Given the description of an element on the screen output the (x, y) to click on. 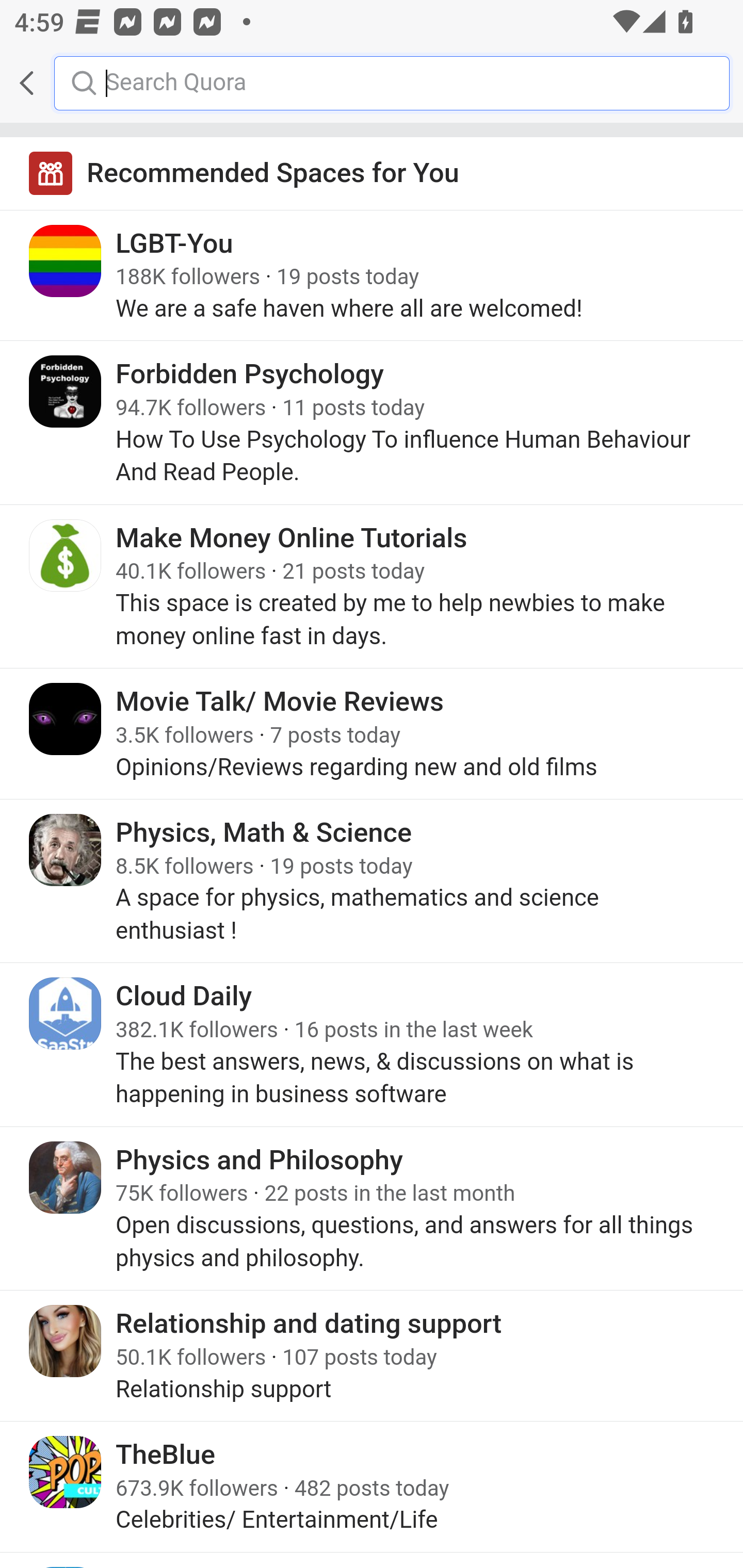
Me (64, 83)
Icon for LGBT-You (65, 260)
Icon for Forbidden Psychology (65, 391)
Icon for Make Money Online Tutorials (65, 554)
Icon for Movie Talk/ Movie Reviews (65, 718)
Icon for Physics, Math & Science (65, 849)
Icon for Cloud Daily (65, 1013)
Icon for Physics and Philosophy (65, 1178)
Icon for Relationship and dating support (65, 1341)
Icon for TheBlue (65, 1471)
